Given the description of an element on the screen output the (x, y) to click on. 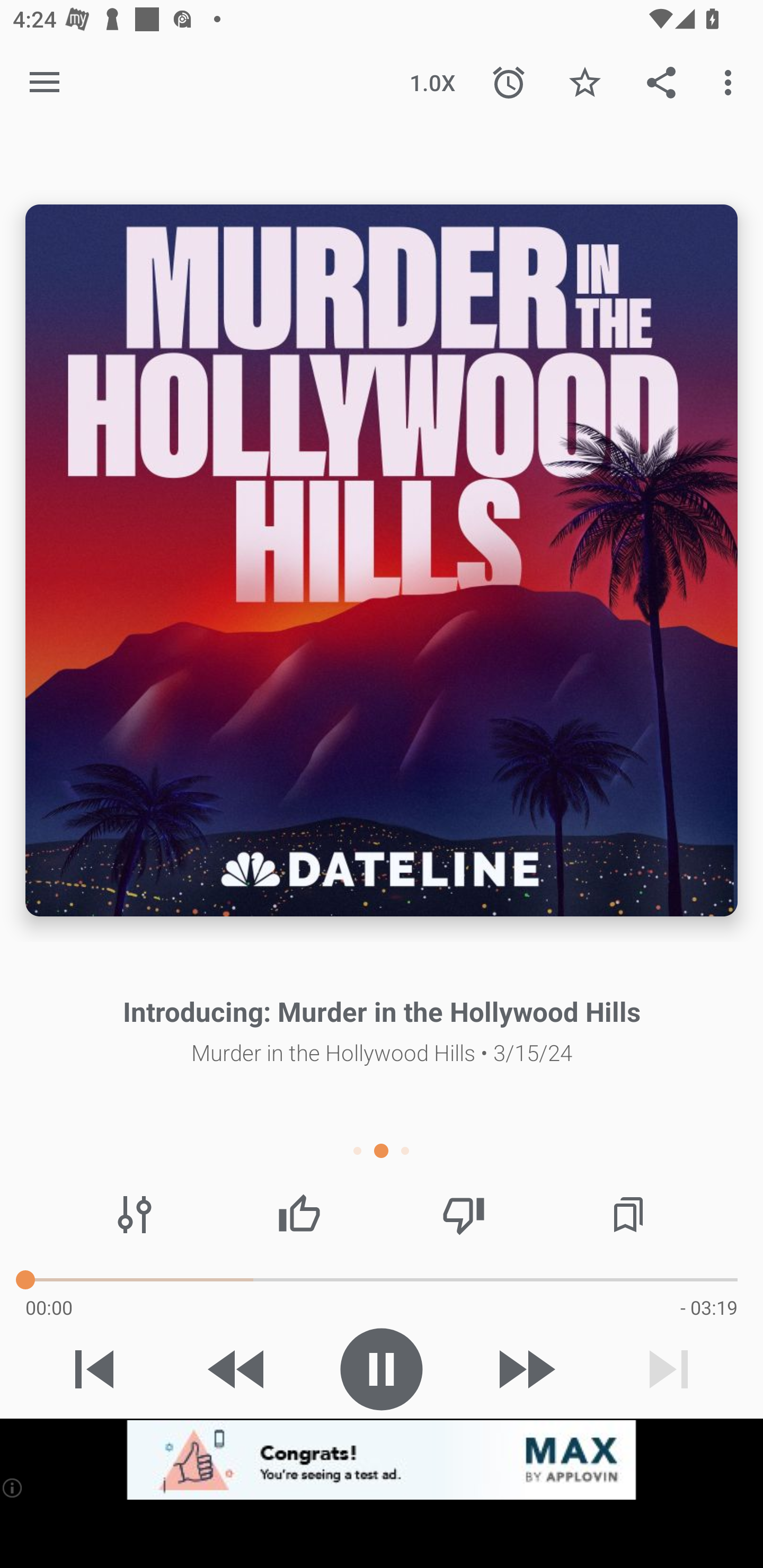
Open navigation sidebar (44, 82)
1.0X (432, 81)
Sleep Timer (508, 81)
Favorite (585, 81)
Share (661, 81)
More options (731, 81)
Episode description (381, 559)
Audio effects (134, 1214)
Thumbs up (298, 1214)
Thumbs down (463, 1214)
Chapters / Bookmarks (628, 1214)
- 03:19 (708, 1306)
Previous track (94, 1369)
Skip 15s backward (237, 1369)
Play / Pause (381, 1369)
Skip 30s forward (525, 1369)
Next track (668, 1369)
app-monetization (381, 1459)
(i) (11, 1487)
